Given the description of an element on the screen output the (x, y) to click on. 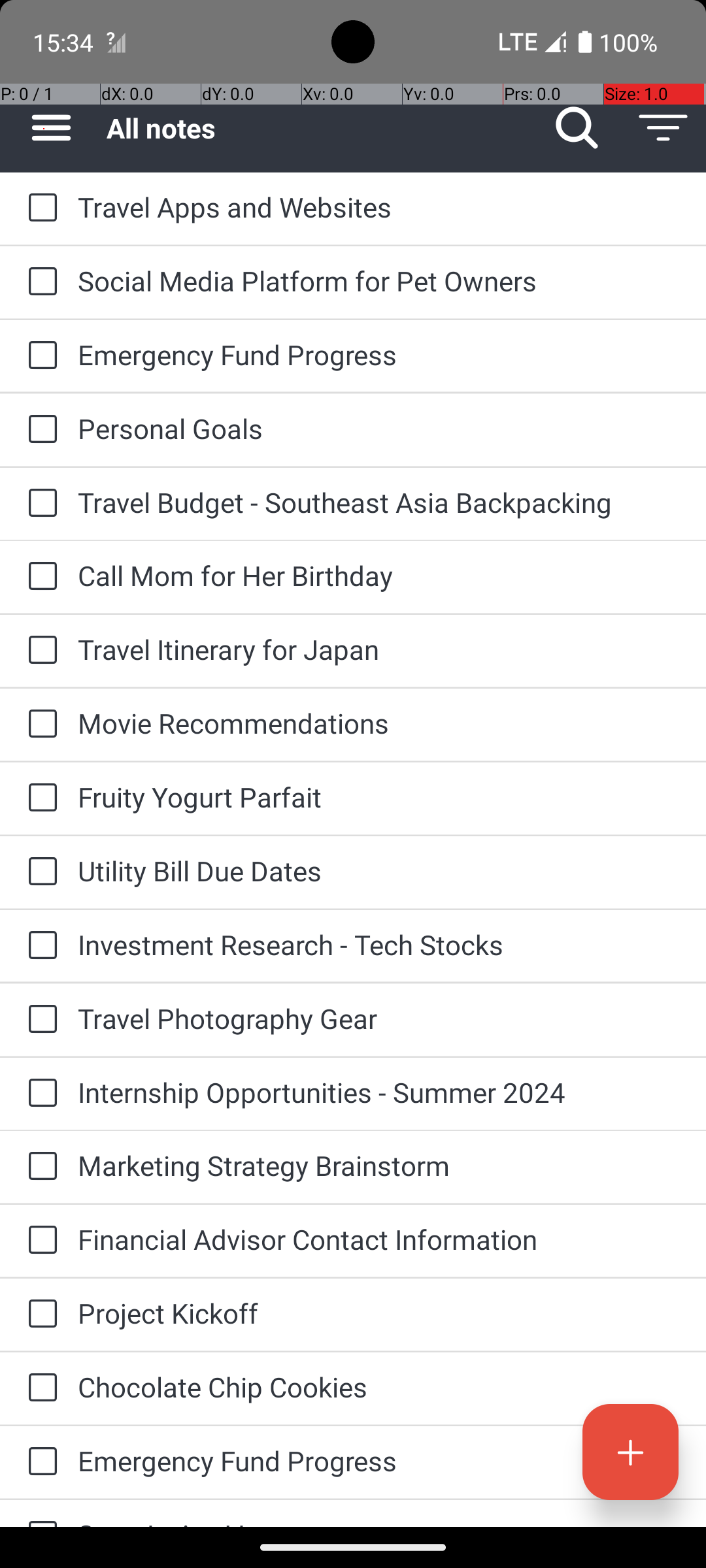
to-do: Travel Apps and Websites Element type: android.widget.CheckBox (38, 208)
Travel Apps and Websites Element type: android.widget.TextView (378, 206)
to-do: Social Media Platform for Pet Owners Element type: android.widget.CheckBox (38, 282)
to-do: Emergency Fund Progress Element type: android.widget.CheckBox (38, 356)
Emergency Fund Progress Element type: android.widget.TextView (378, 354)
to-do: Personal Goals Element type: android.widget.CheckBox (38, 429)
Personal Goals Element type: android.widget.TextView (378, 427)
to-do: Travel Budget - Southeast Asia Backpacking Element type: android.widget.CheckBox (38, 503)
Travel Budget - Southeast Asia Backpacking Element type: android.widget.TextView (378, 501)
to-do: Call Mom for Her Birthday Element type: android.widget.CheckBox (38, 576)
Call Mom for Her Birthday Element type: android.widget.TextView (378, 574)
to-do: Travel Itinerary for Japan Element type: android.widget.CheckBox (38, 650)
Travel Itinerary for Japan Element type: android.widget.TextView (378, 648)
to-do: Movie Recommendations Element type: android.widget.CheckBox (38, 724)
Movie Recommendations Element type: android.widget.TextView (378, 722)
to-do: Fruity Yogurt Parfait Element type: android.widget.CheckBox (38, 798)
Fruity Yogurt Parfait Element type: android.widget.TextView (378, 796)
to-do: Utility Bill Due Dates Element type: android.widget.CheckBox (38, 872)
Utility Bill Due Dates Element type: android.widget.TextView (378, 870)
to-do: Investment Research - Tech Stocks Element type: android.widget.CheckBox (38, 945)
Investment Research - Tech Stocks Element type: android.widget.TextView (378, 944)
to-do: Travel Photography Gear Element type: android.widget.CheckBox (38, 1019)
Travel Photography Gear Element type: android.widget.TextView (378, 1017)
to-do: Internship Opportunities - Summer 2024 Element type: android.widget.CheckBox (38, 1093)
Internship Opportunities - Summer 2024 Element type: android.widget.TextView (378, 1091)
to-do: Marketing Strategy Brainstorm Element type: android.widget.CheckBox (38, 1166)
Marketing Strategy Brainstorm Element type: android.widget.TextView (378, 1164)
to-do: Project Kickoff Element type: android.widget.CheckBox (38, 1314)
Project Kickoff Element type: android.widget.TextView (378, 1312)
to-do: Chocolate Chip Cookies Element type: android.widget.CheckBox (38, 1388)
Chocolate Chip Cookies Element type: android.widget.TextView (378, 1386)
to-do: Song Lyrics I Love Element type: android.widget.CheckBox (38, 1513)
Song Lyrics I Love Element type: android.widget.TextView (378, 1520)
